Given the description of an element on the screen output the (x, y) to click on. 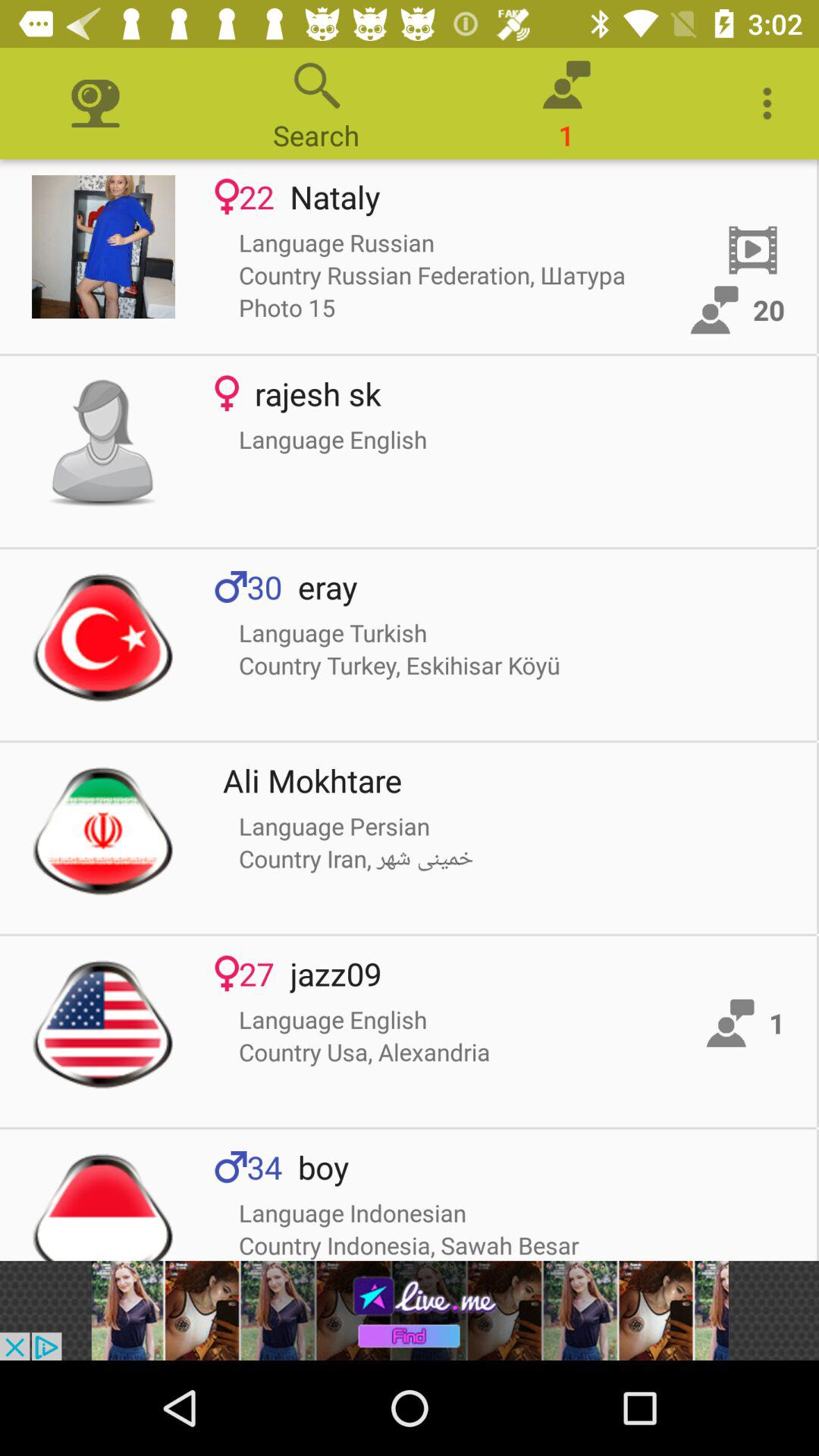
choose a profile (103, 636)
